Given the description of an element on the screen output the (x, y) to click on. 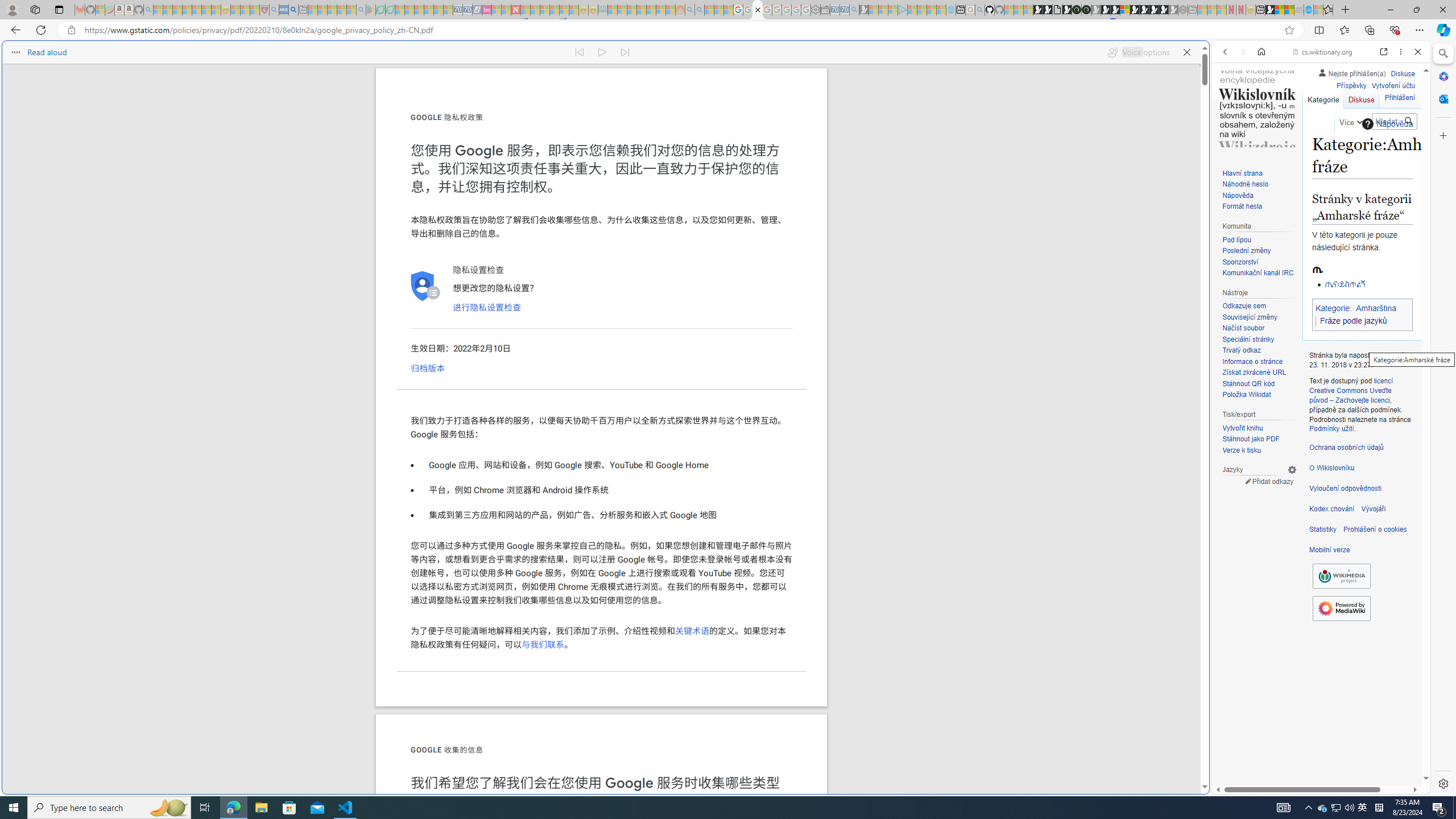
Sign in to your account (1124, 9)
Local - MSN - Sleeping (254, 9)
Frequently visited (965, 151)
Jobs - lastminute.com Investor Portal - Sleeping (486, 9)
